Given the description of an element on the screen output the (x, y) to click on. 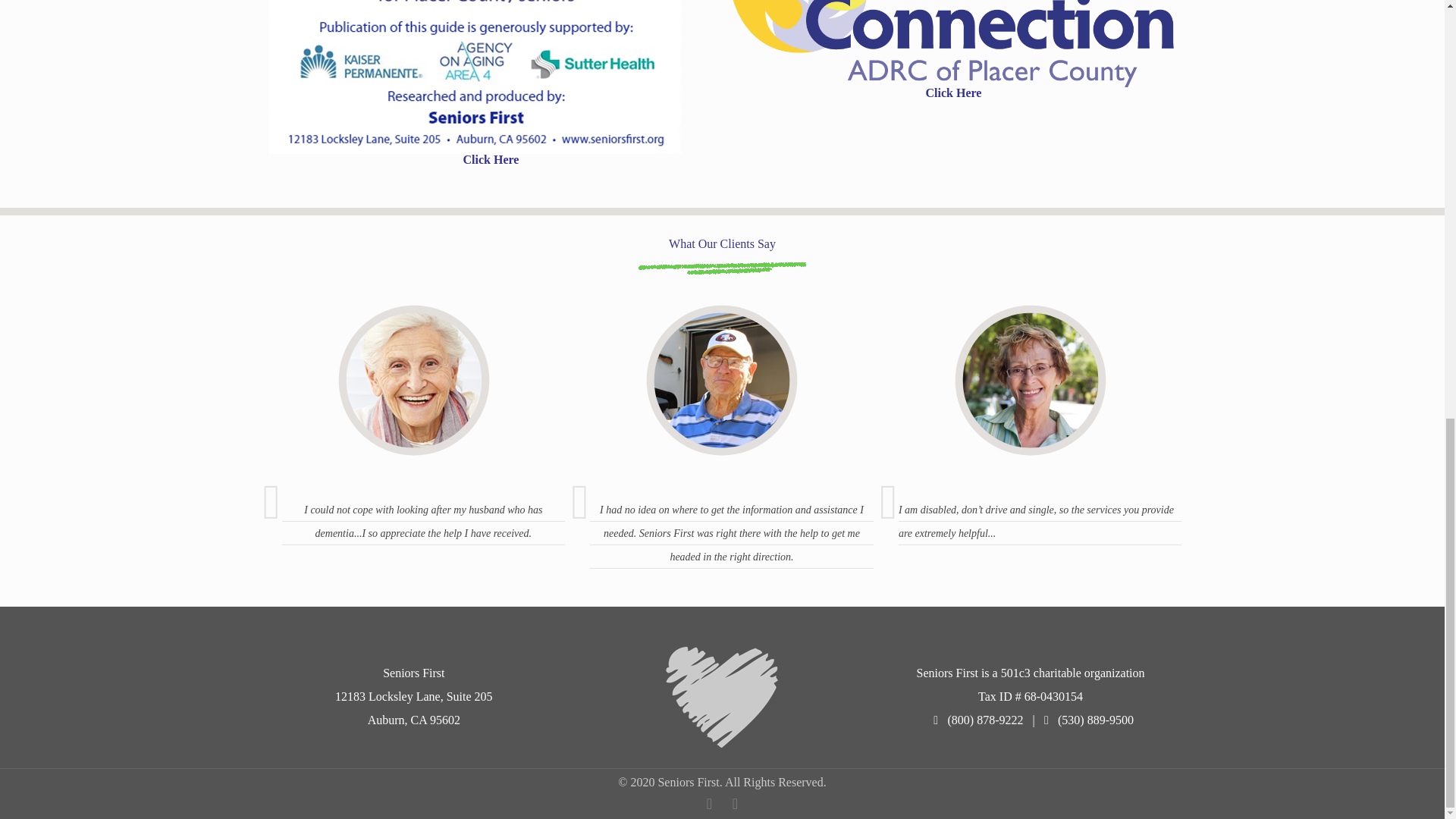
Twitter (734, 803)
Facebook (708, 803)
